Given the description of an element on the screen output the (x, y) to click on. 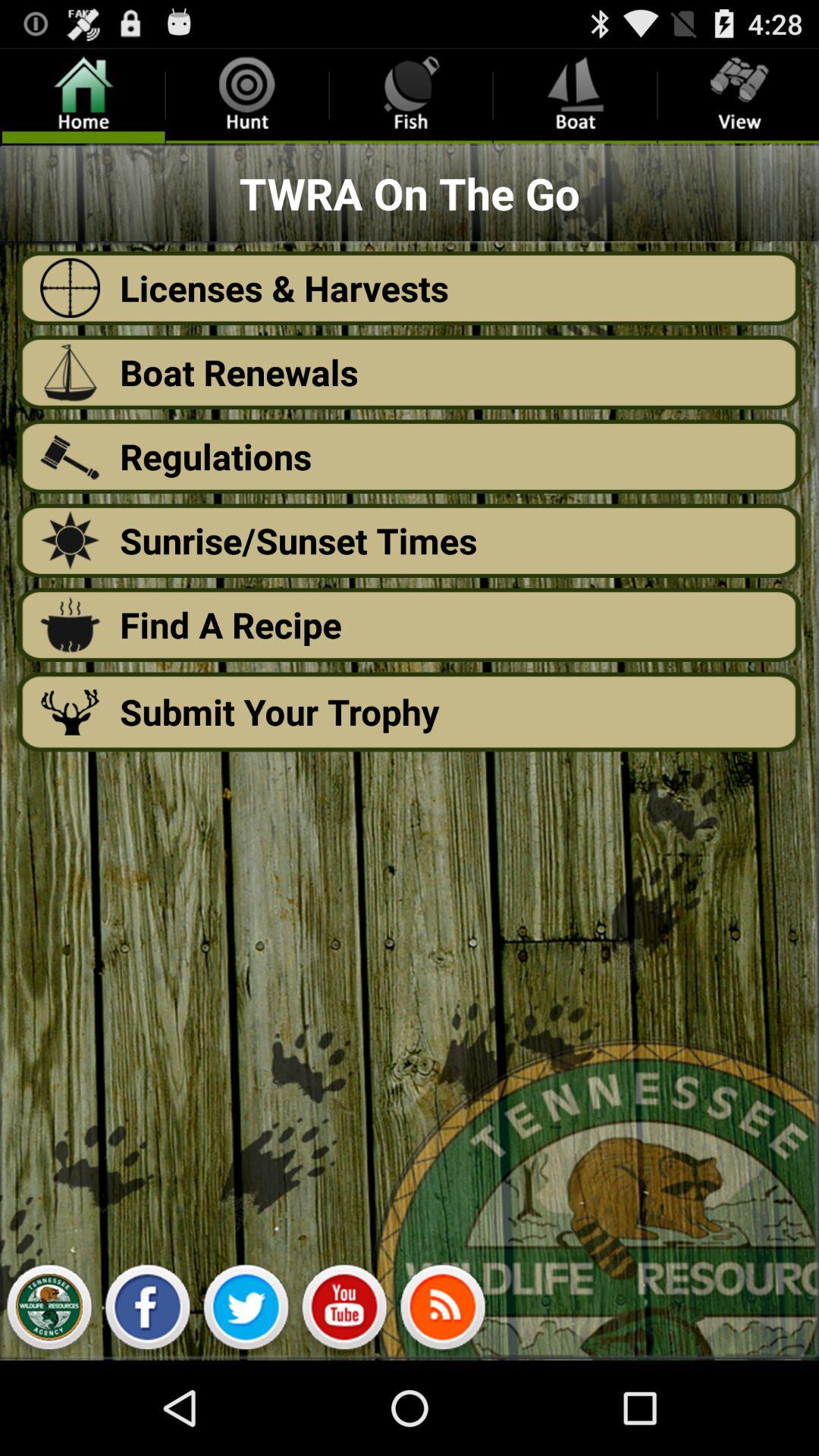
share on twitter (245, 1311)
